Given the description of an element on the screen output the (x, y) to click on. 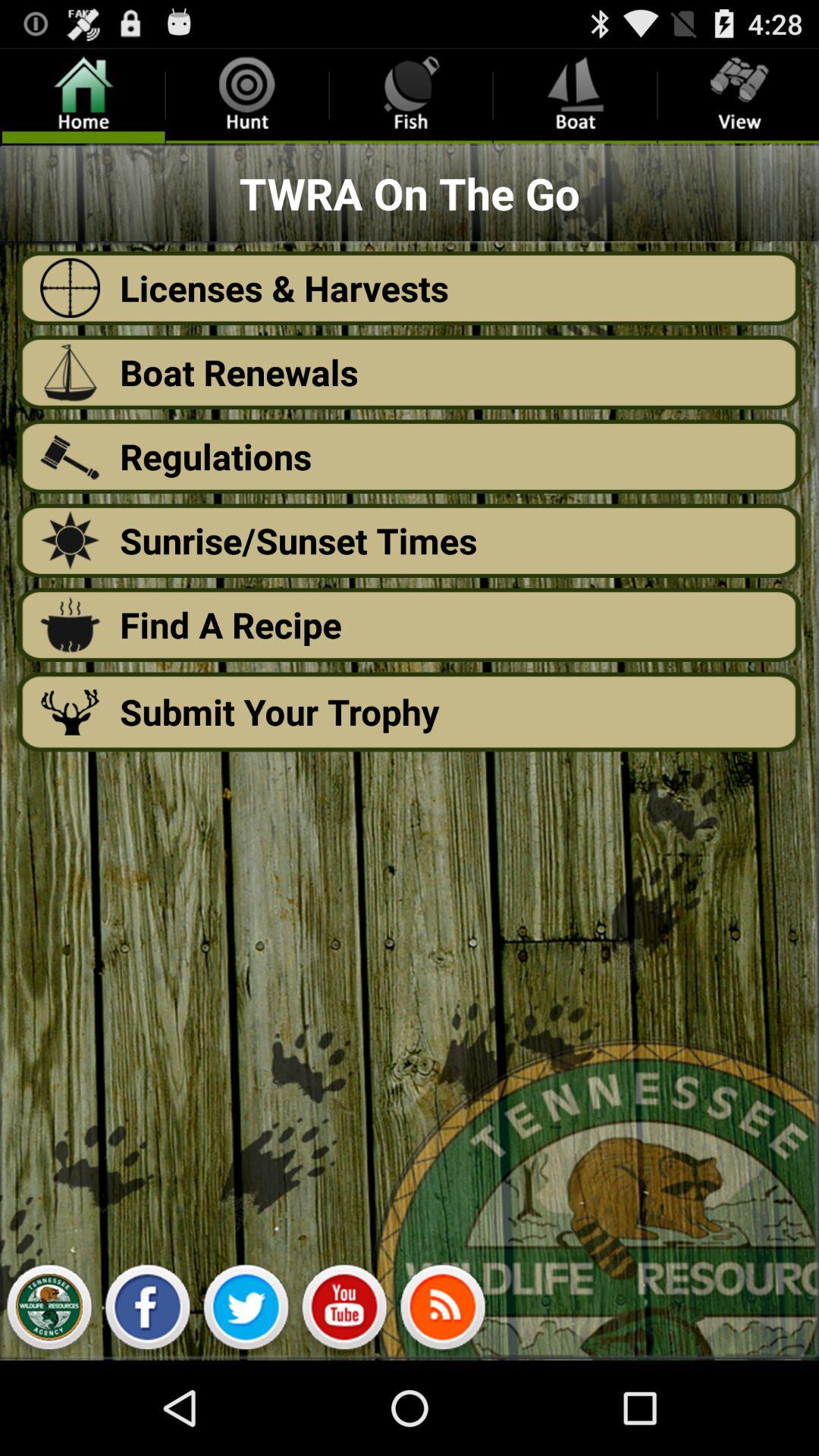
share on twitter (245, 1311)
